Given the description of an element on the screen output the (x, y) to click on. 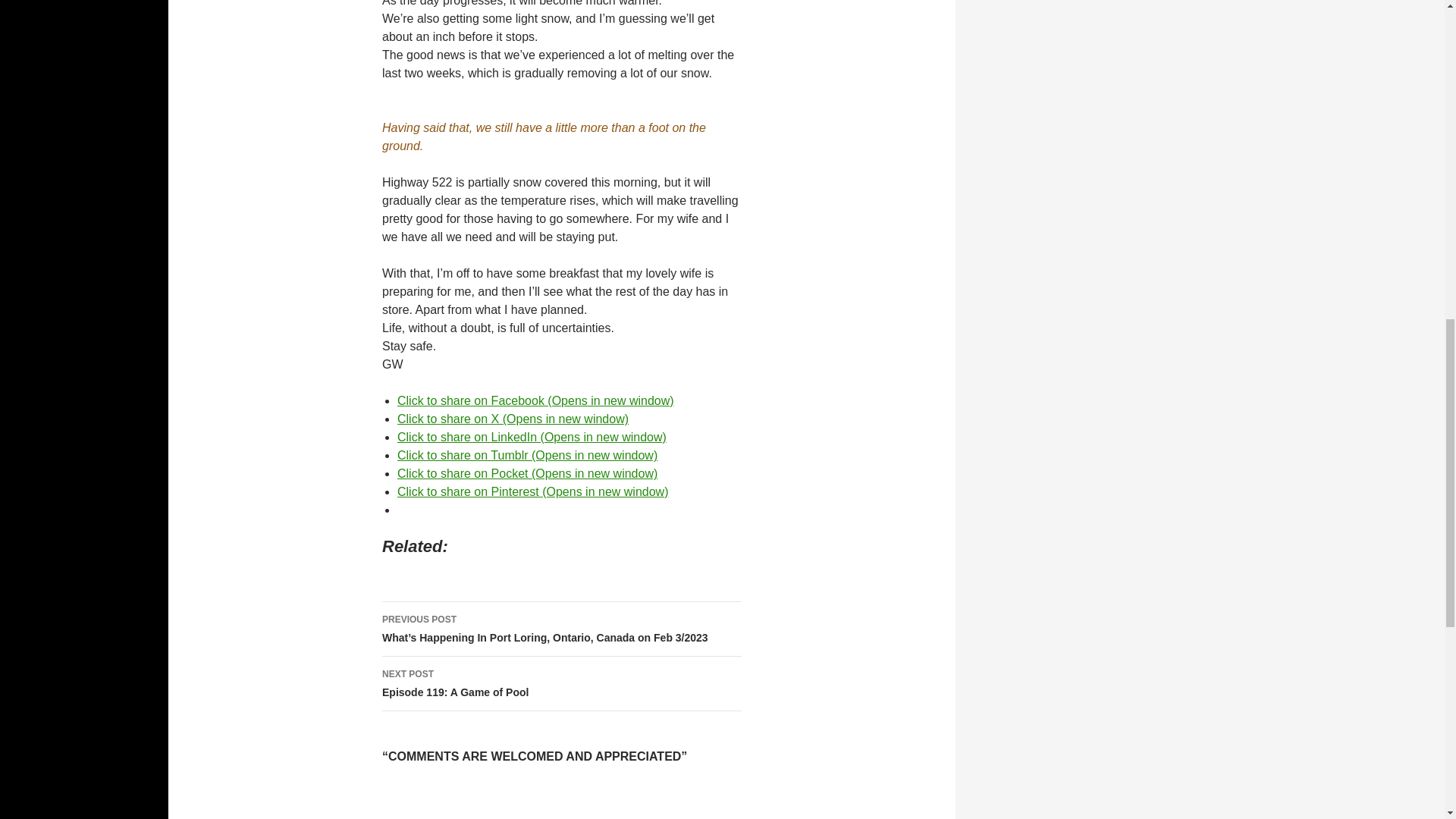
Click to share on Pinterest (532, 491)
Click to share on X (512, 418)
Click to share on LinkedIn (531, 436)
Click to share on Pocket (527, 472)
Click to share on Tumblr (527, 454)
Click to share on Facebook (535, 400)
Comment Form (561, 801)
